Given the description of an element on the screen output the (x, y) to click on. 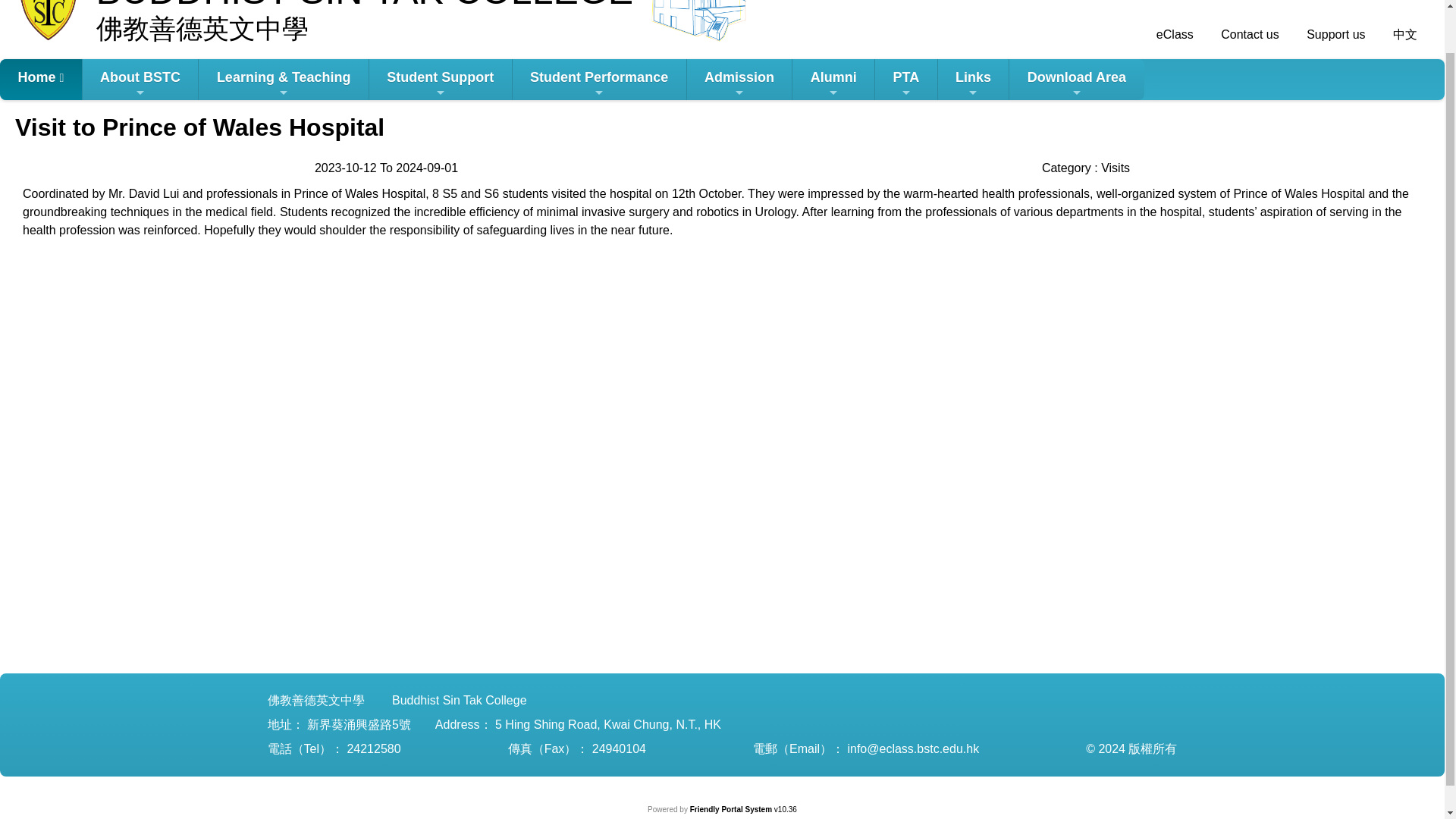
 Contact us (1248, 34)
Home of this website (40, 78)
Home (40, 78)
About BSTC (140, 78)
 Support us (1334, 34)
 eClass (1172, 34)
